Given the description of an element on the screen output the (x, y) to click on. 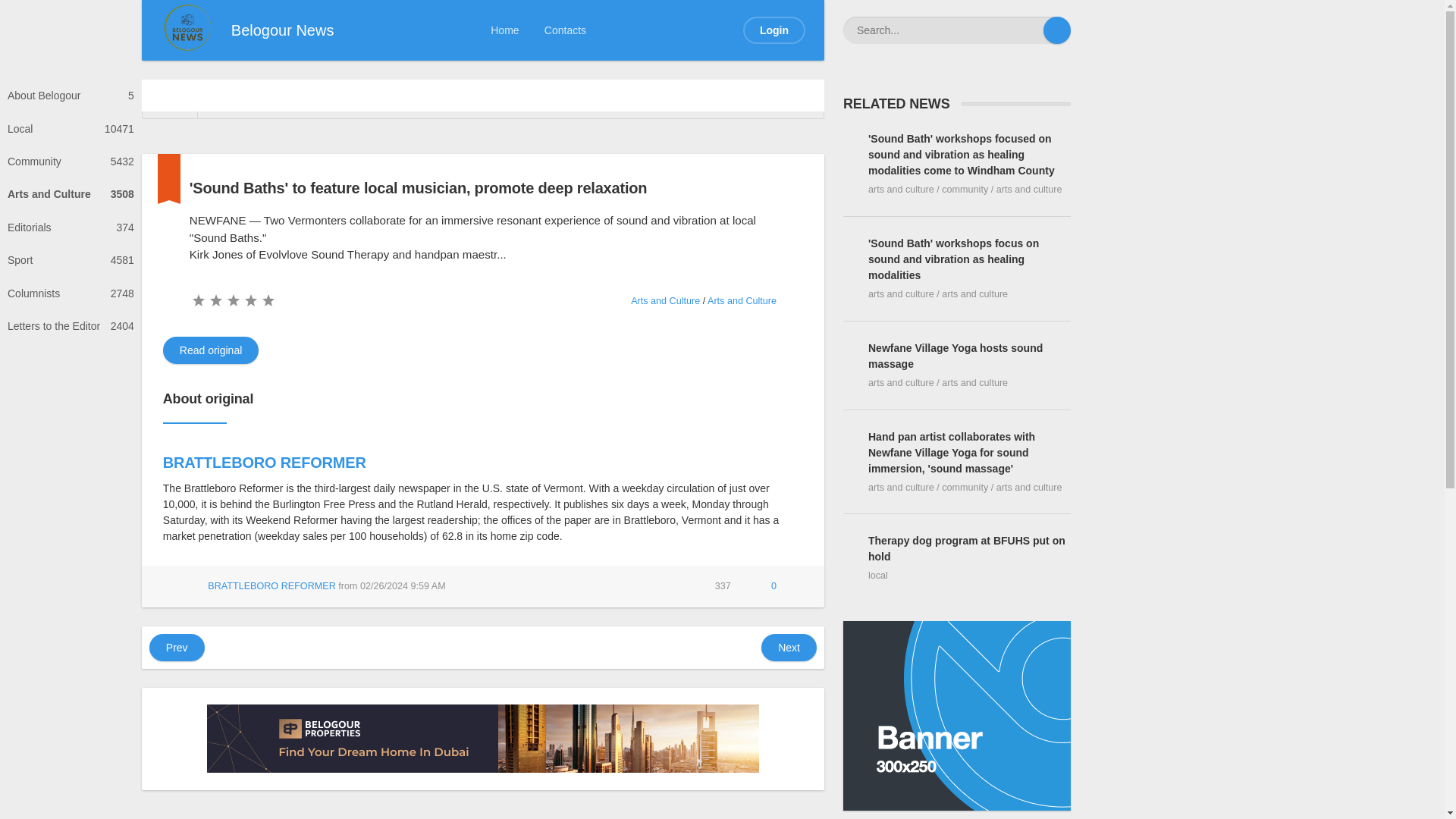
Login (773, 30)
Arts and Culture (70, 161)
Good (70, 128)
Complaint (741, 300)
Arts and Culture (250, 300)
Contacts (666, 585)
BRATTLEBORO REFORMER (326, 99)
Useless (564, 30)
4 (264, 462)
Contacts (197, 300)
2 (250, 300)
Read original (564, 30)
Belogour News (215, 300)
